Given the description of an element on the screen output the (x, y) to click on. 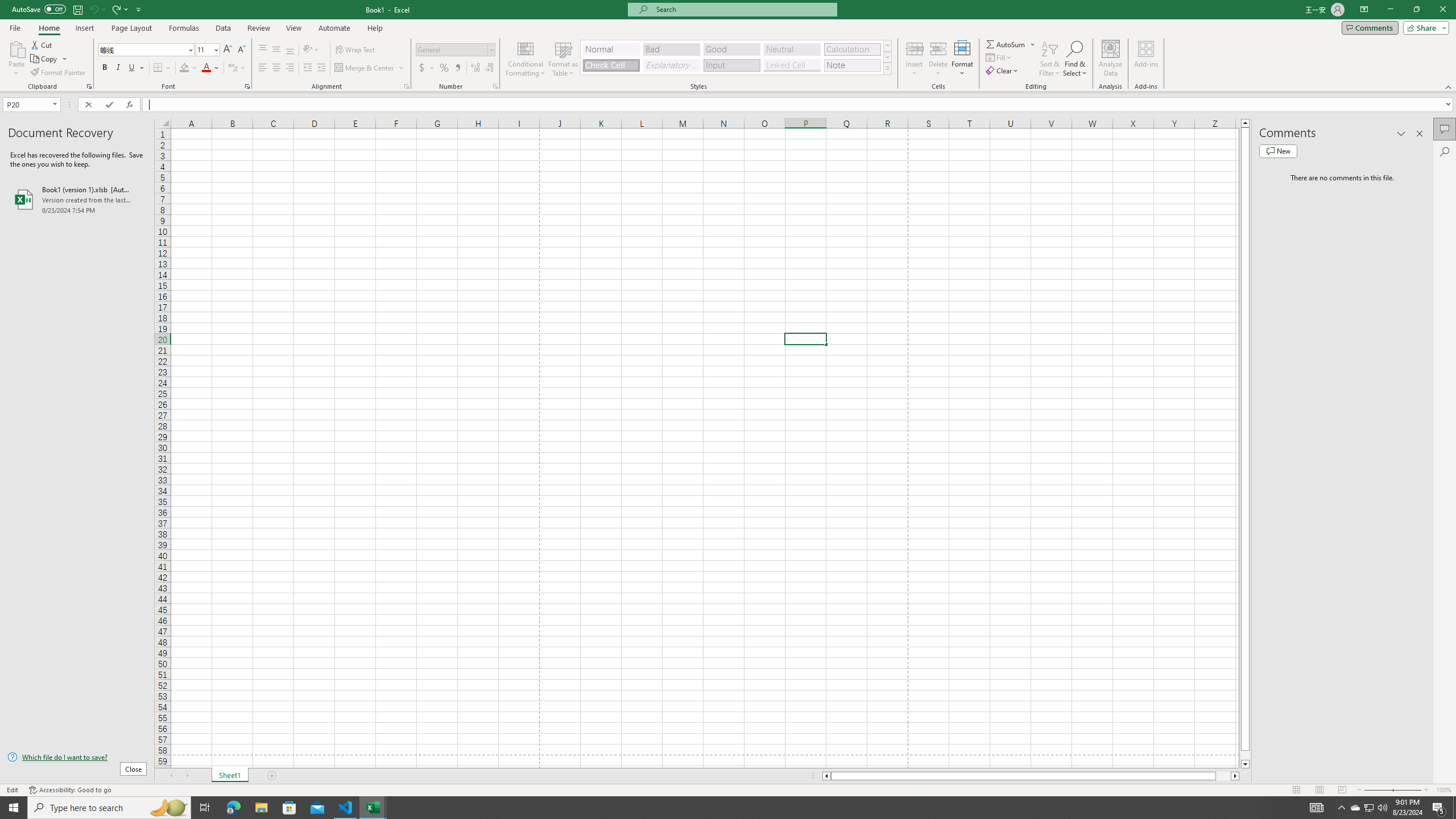
Comma Style (457, 67)
Bottom Align (290, 49)
Align Left (262, 67)
Merge & Center (365, 67)
Linked Cell (791, 65)
Conditional Formatting (525, 58)
